Given the description of an element on the screen output the (x, y) to click on. 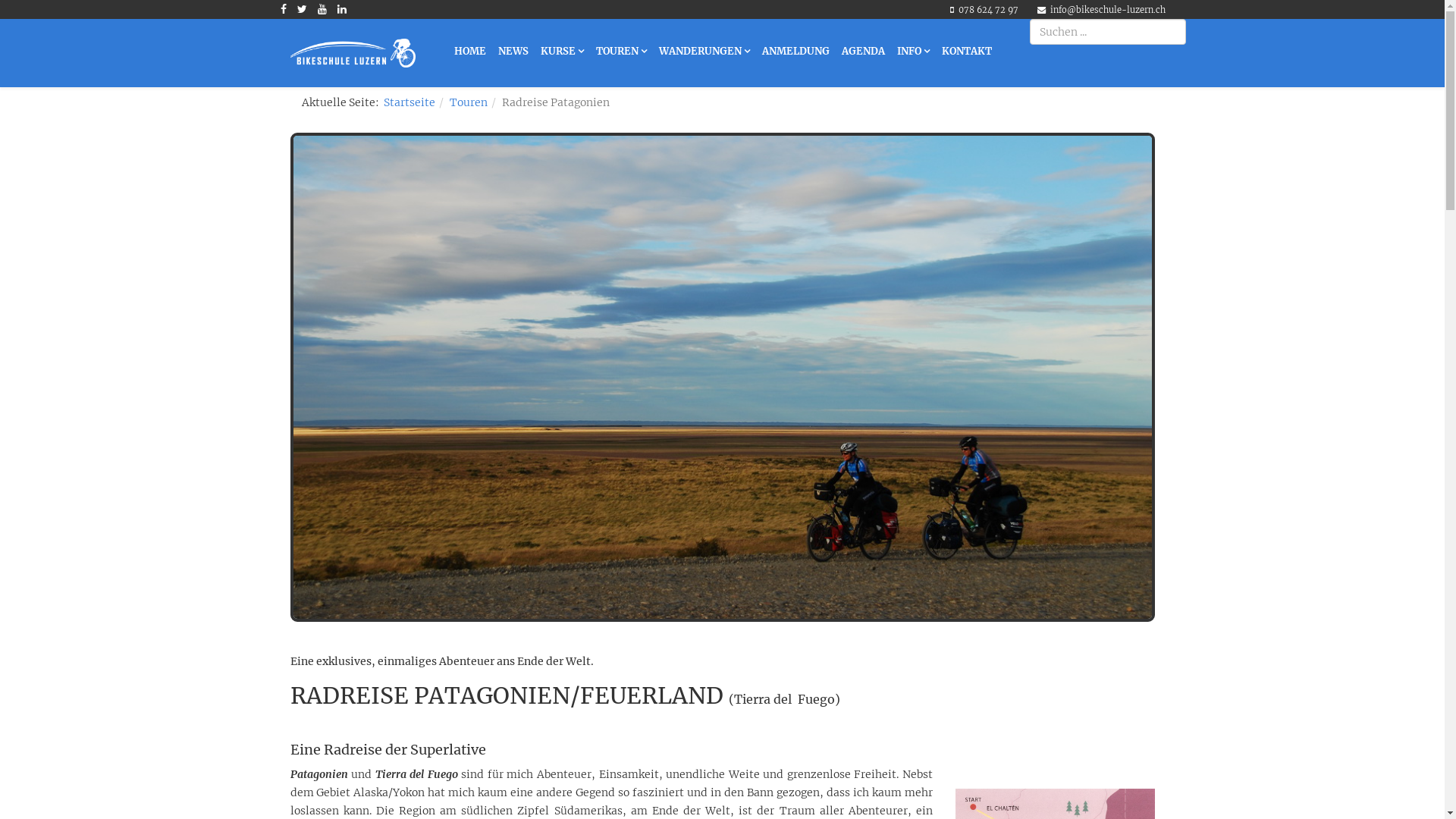
NEWS Element type: text (512, 51)
KURSE Element type: text (561, 51)
TOUREN Element type: text (621, 51)
HOME Element type: text (468, 51)
WANDERUNGEN Element type: text (703, 51)
INFO Element type: text (912, 51)
AGENDA Element type: text (863, 51)
KONTAKT Element type: text (966, 51)
078 624 72 97 Element type: text (988, 9)
Touren Element type: text (467, 102)
info@bikeschule-luzern.ch Element type: text (1106, 9)
ANMELDUNG Element type: text (794, 51)
Startseite Element type: text (409, 102)
